Given the description of an element on the screen output the (x, y) to click on. 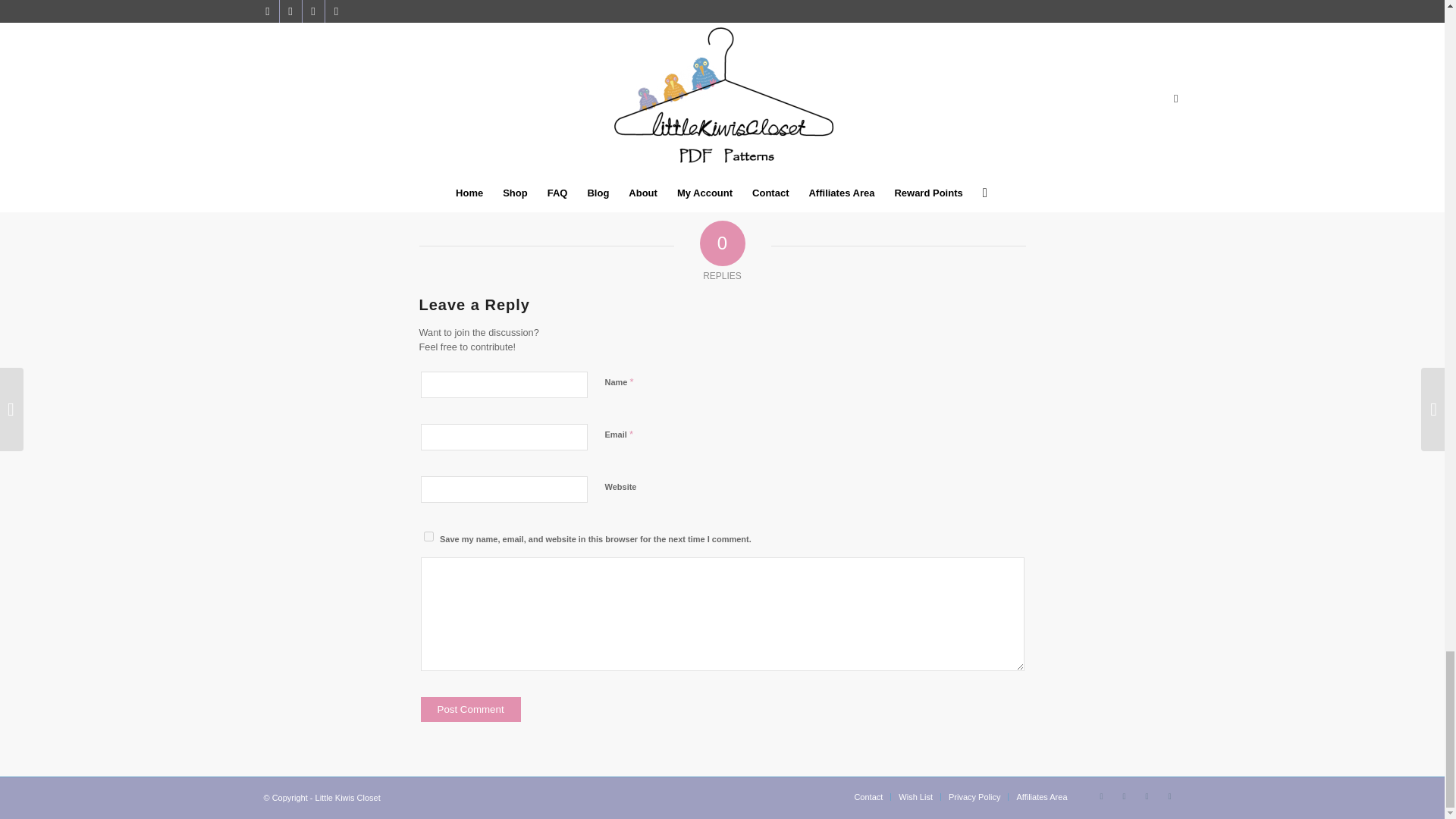
Post Comment (469, 708)
yes (427, 536)
Posts by LydiaP (751, 24)
